Given the description of an element on the screen output the (x, y) to click on. 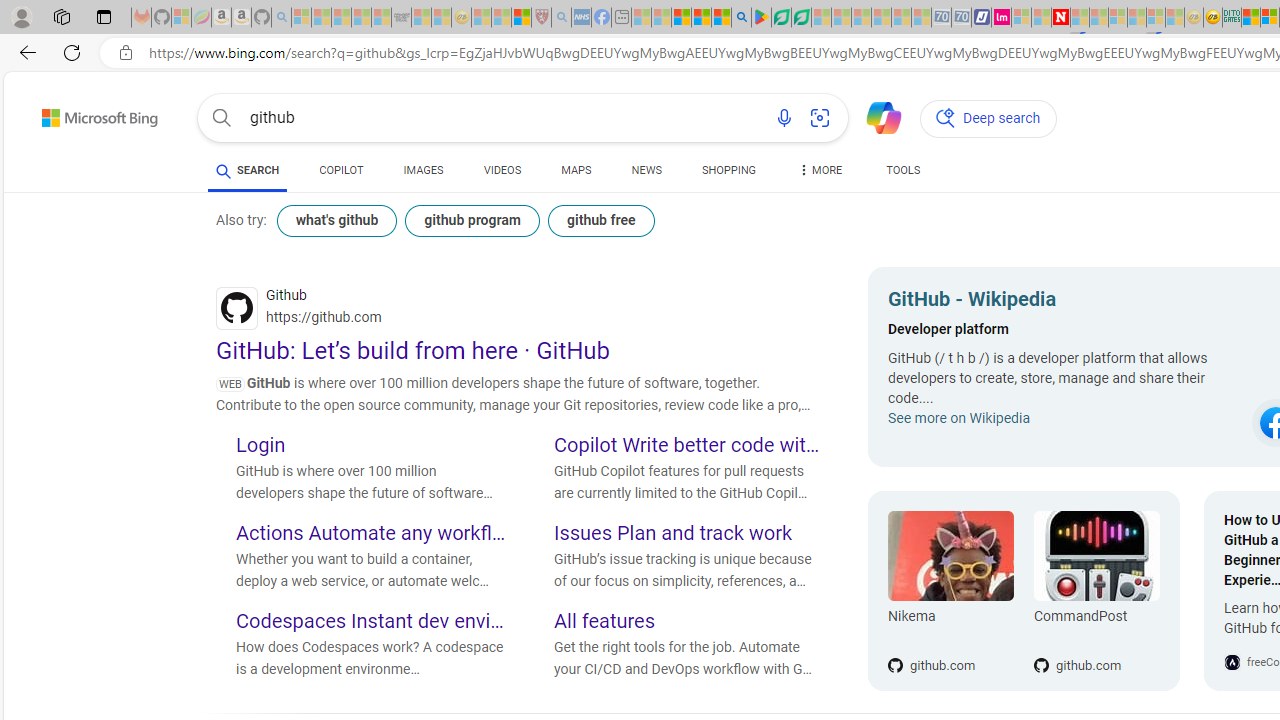
what's github (337, 220)
The Weather Channel - MSN - Sleeping (340, 17)
Chat (875, 116)
NEWS (646, 173)
